Given the description of an element on the screen output the (x, y) to click on. 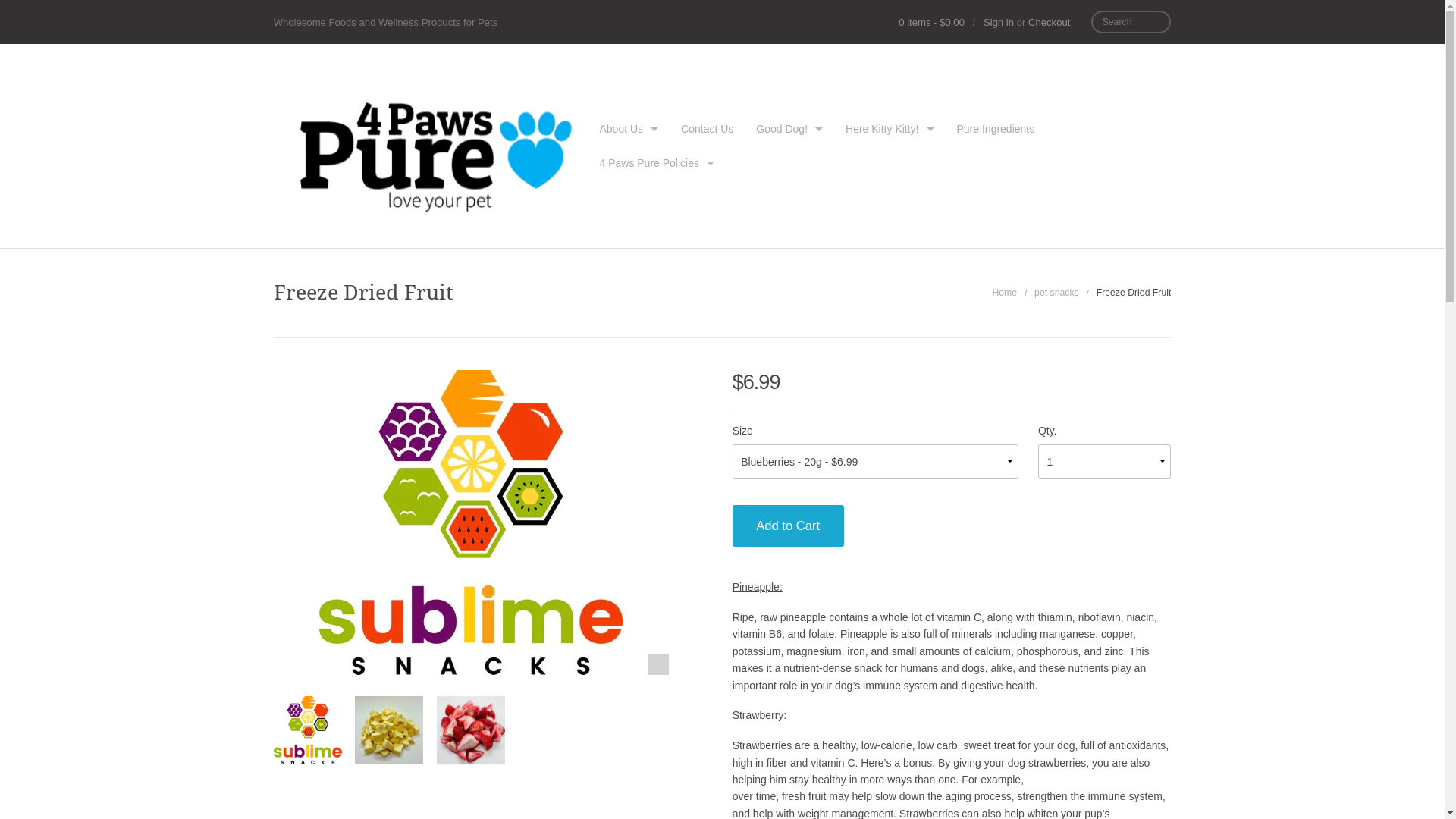
Contact Us Element type: text (706, 129)
Home Element type: text (1003, 292)
pet snacks Element type: text (1056, 292)
4 Paws Pure Element type: hover (430, 145)
Freeze Dried Fruit Element type: hover (388, 730)
Freeze Dried Fruit Element type: hover (307, 730)
Pure Ingredients Element type: text (994, 129)
About Us Element type: text (628, 129)
Sign in Element type: text (998, 22)
0 items - $0.00 Element type: text (930, 22)
Add to Cart Element type: text (788, 525)
Checkout Element type: text (1049, 22)
Good Dog! Element type: text (789, 129)
Freeze Dried Fruit Element type: hover (470, 730)
4 Paws Pure Policies Element type: text (656, 163)
Here Kitty Kitty! Element type: text (889, 129)
